Given the description of an element on the screen output the (x, y) to click on. 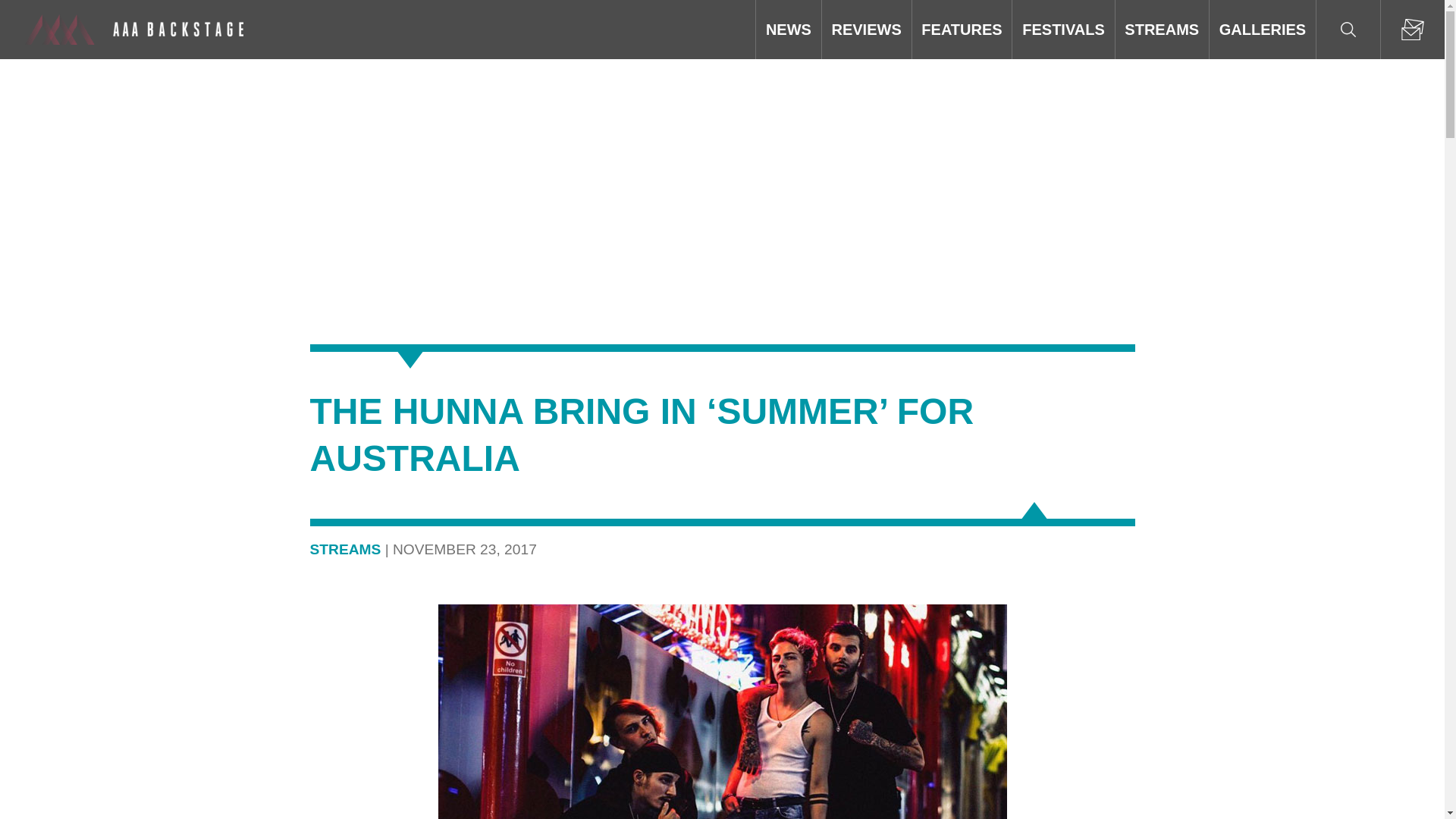
Search (1348, 29)
FESTIVALS (1062, 29)
NEWS (788, 29)
GALLERIES (1262, 29)
STREAMS (1161, 29)
FEATURES (961, 29)
REVIEWS (866, 29)
